Given the description of an element on the screen output the (x, y) to click on. 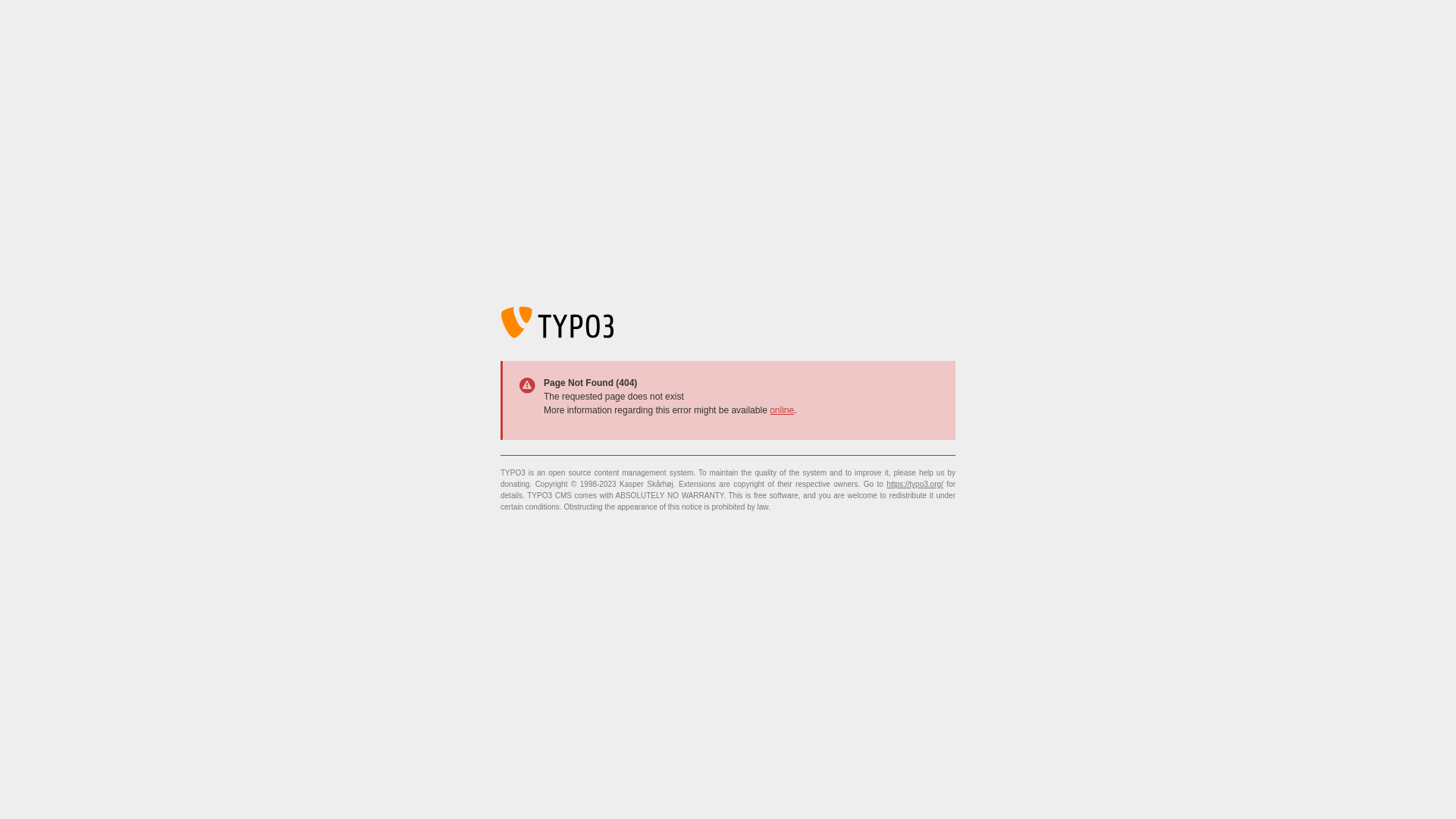
https://typo3.org/ Element type: text (914, 484)
online Element type: text (781, 409)
